Given the description of an element on the screen output the (x, y) to click on. 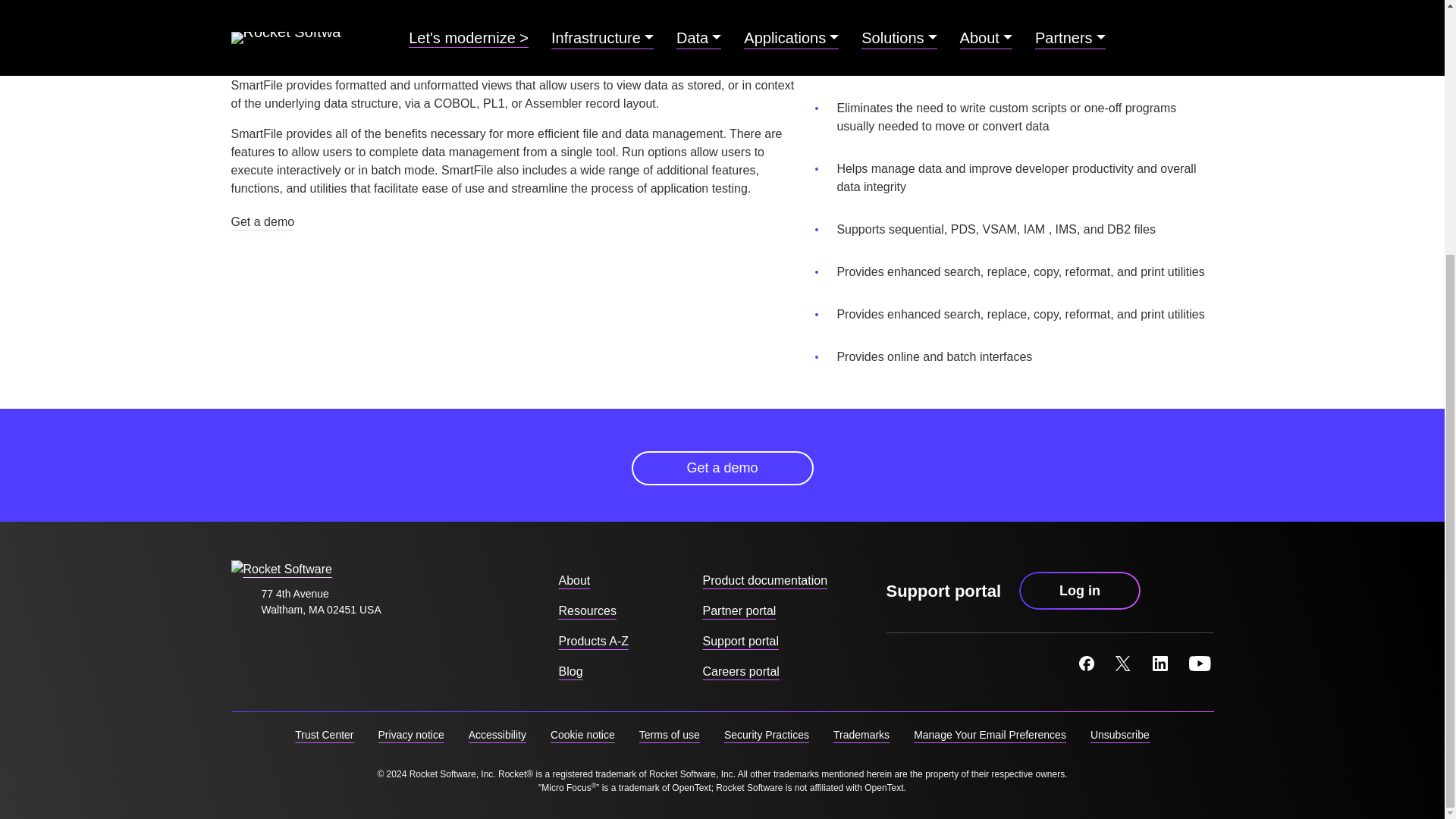
Blog (569, 671)
About (573, 580)
Get a demo (262, 221)
Resources (586, 610)
Get a demo (721, 468)
Products A-Z (592, 641)
